Given the description of an element on the screen output the (x, y) to click on. 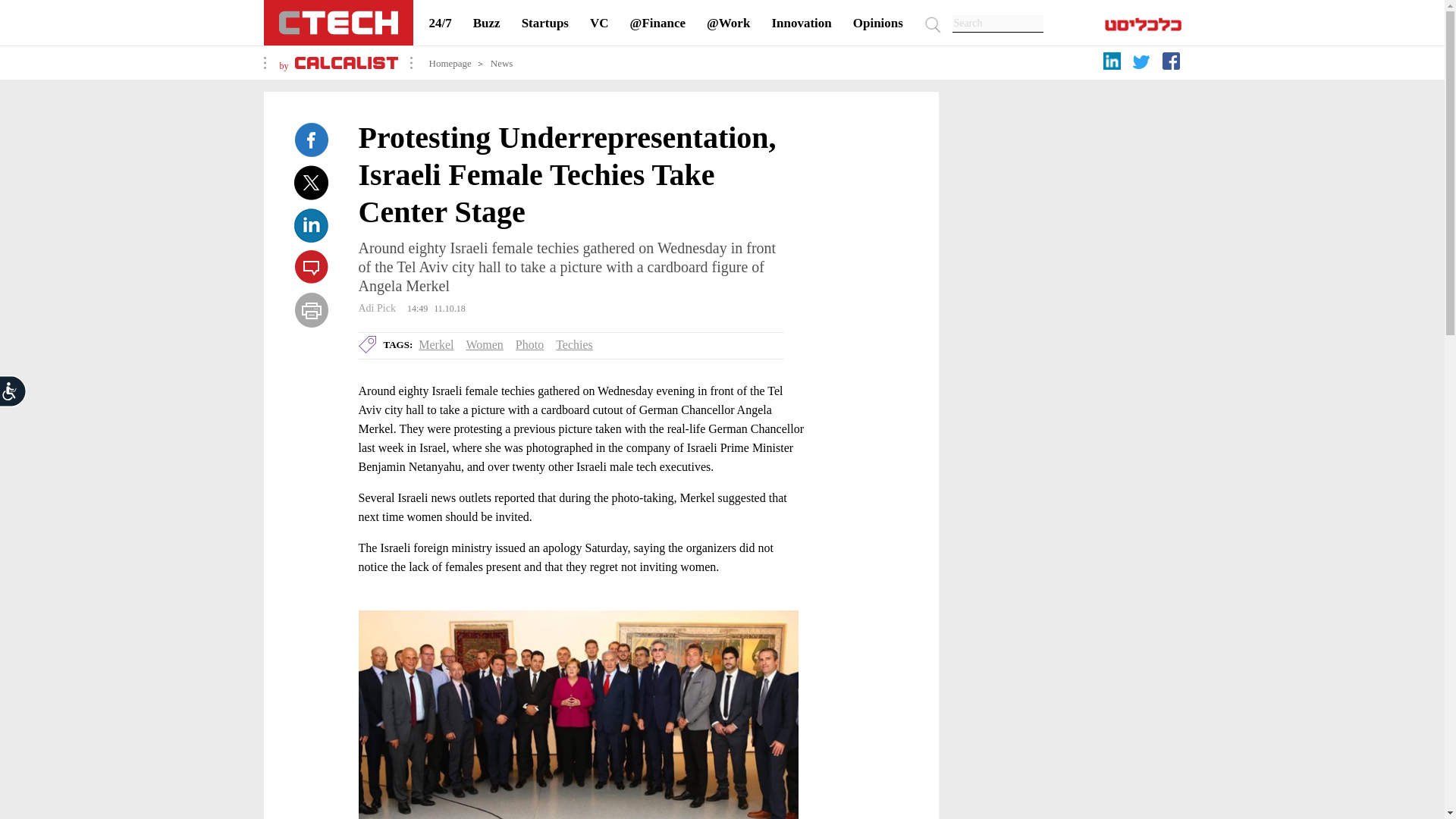
Buzz (486, 23)
Innovation (801, 23)
Talkback (311, 267)
calcalist (1141, 27)
Print (311, 309)
linkedin (1113, 63)
CTech (338, 22)
Opinions (877, 23)
Women (483, 344)
VC (598, 23)
calcalist (345, 65)
Work (727, 23)
Finance (657, 23)
Linkedin (311, 225)
Buzz (486, 23)
